Given the description of an element on the screen output the (x, y) to click on. 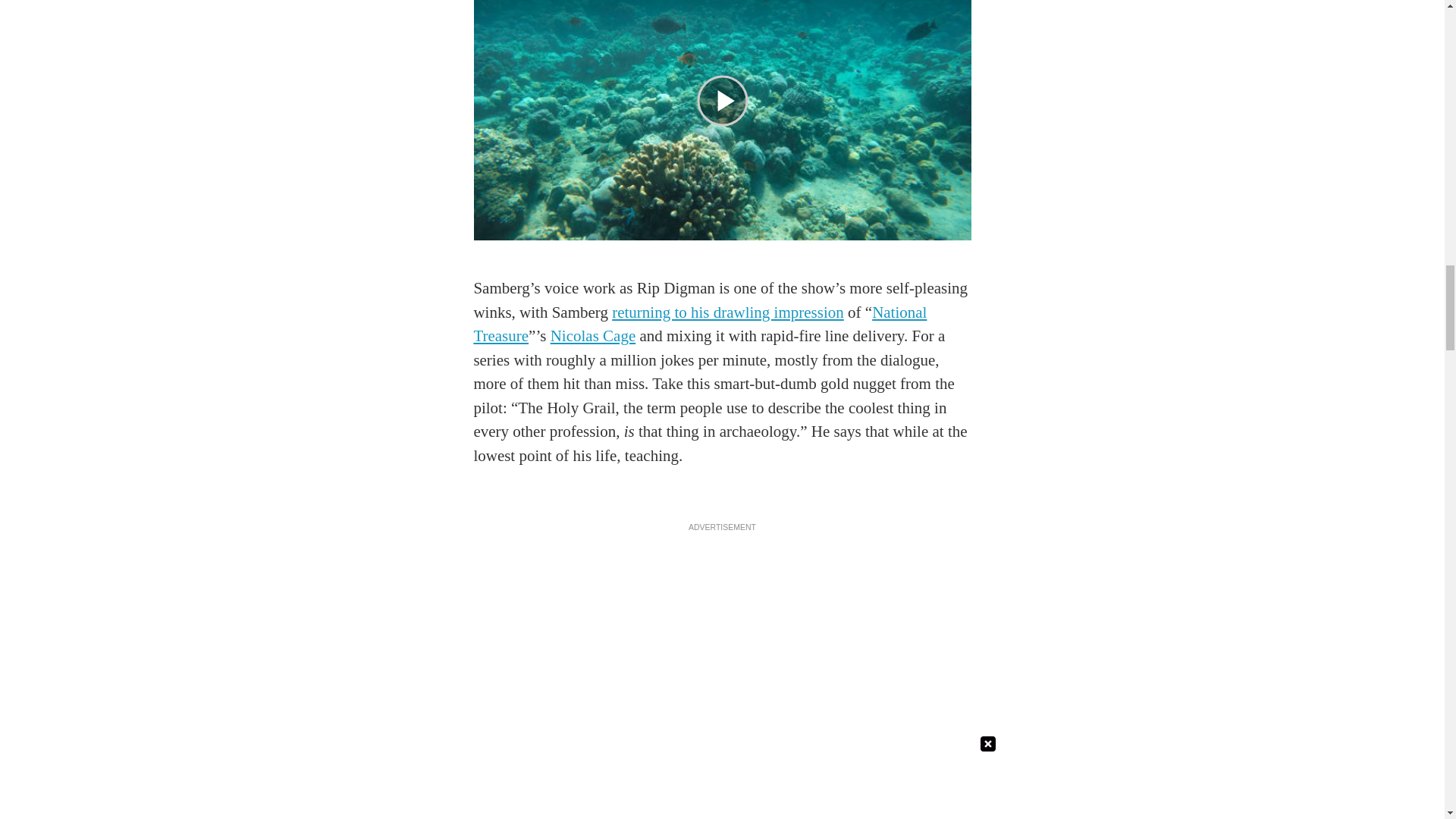
Nicolas Cage (593, 335)
National Treasure (699, 324)
returning to his drawling impression (727, 312)
